Given the description of an element on the screen output the (x, y) to click on. 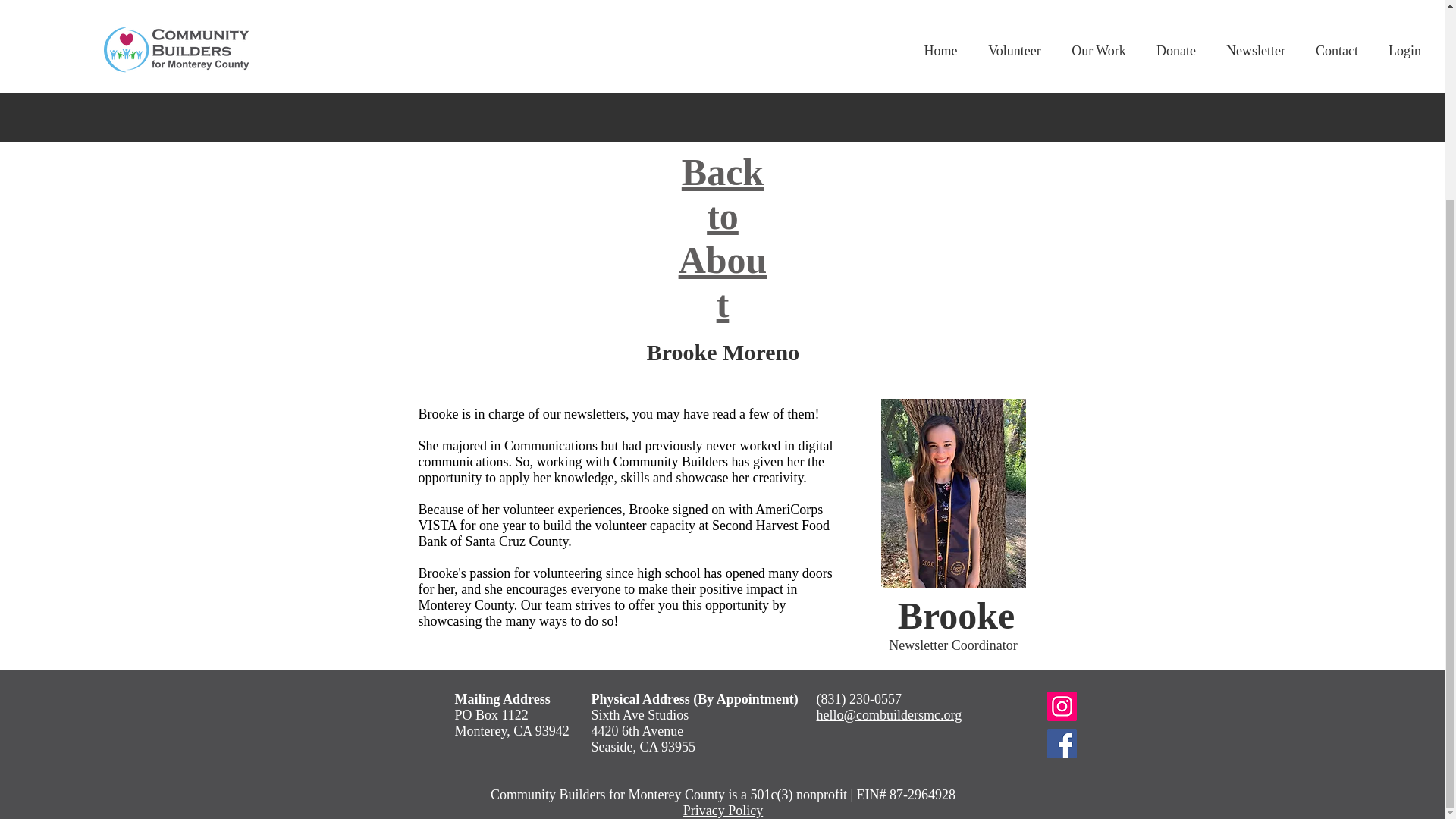
Privacy Policy (722, 810)
Back to About (722, 237)
